Given the description of an element on the screen output the (x, y) to click on. 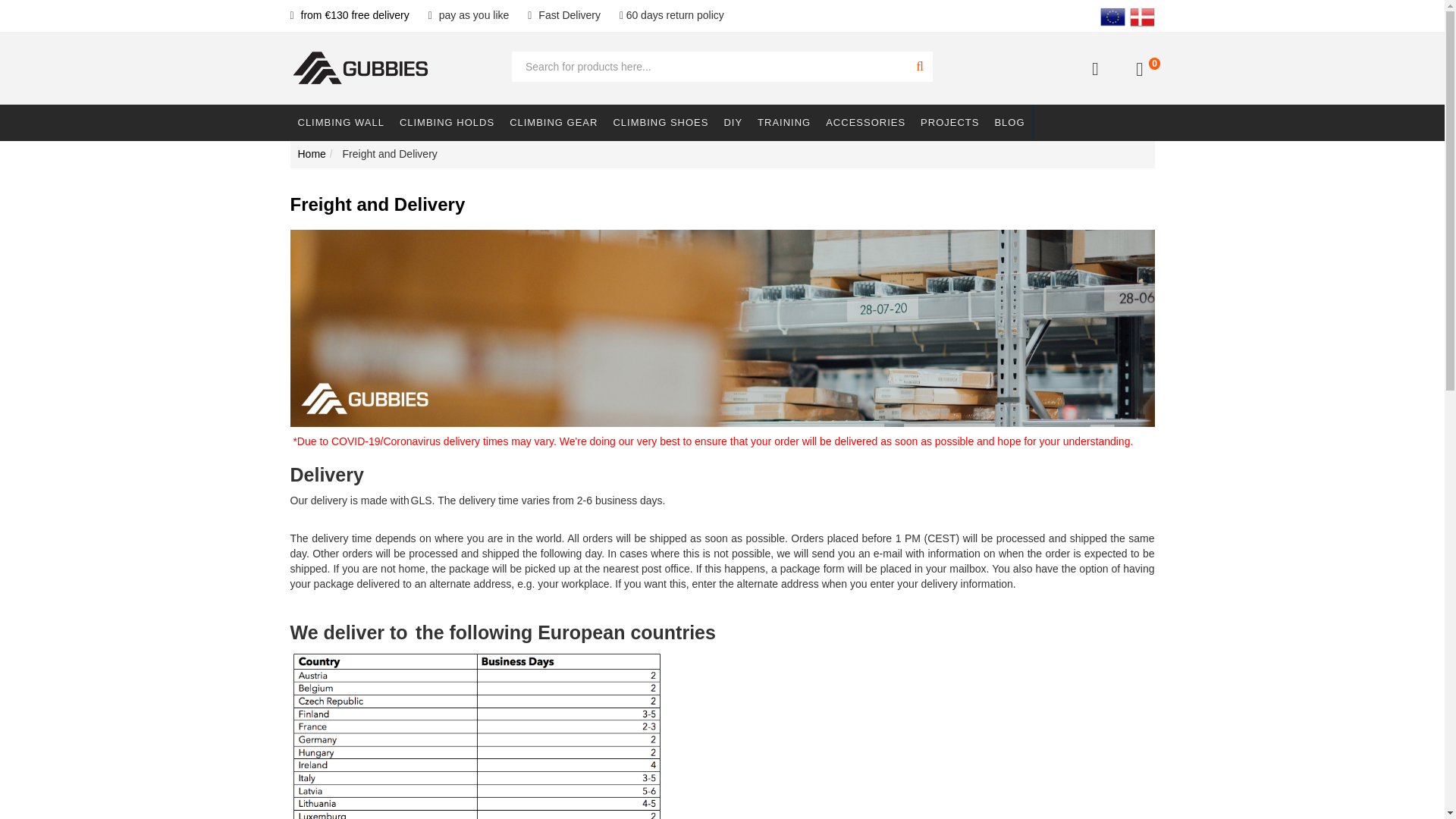
CLIMBING WALL (340, 122)
0 (1138, 68)
Search (920, 66)
